Given the description of an element on the screen output the (x, y) to click on. 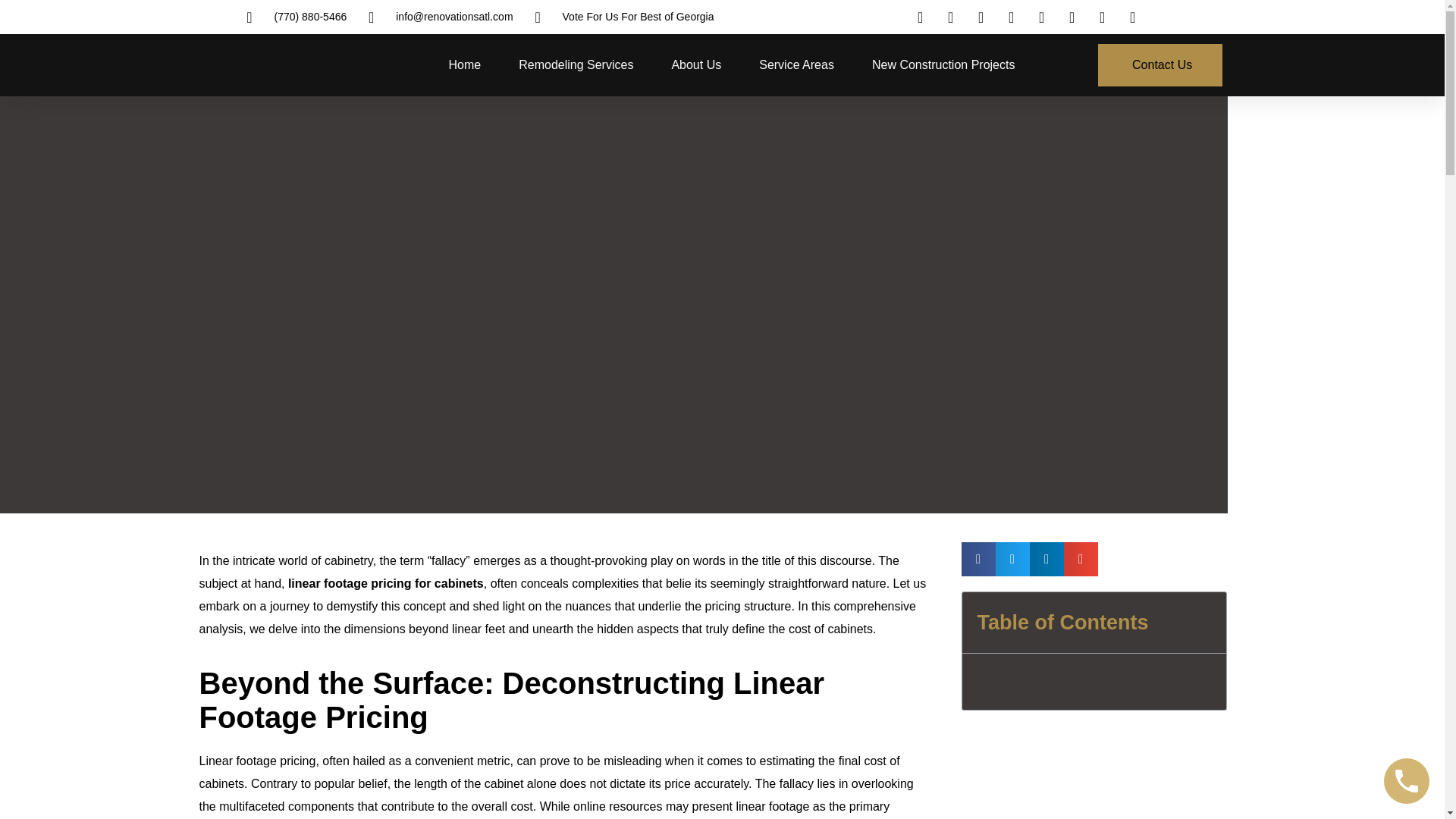
Home (464, 64)
Vote For Us For Best of Georgia (621, 17)
Remodeling Services (575, 64)
About Us (695, 64)
